Given the description of an element on the screen output the (x, y) to click on. 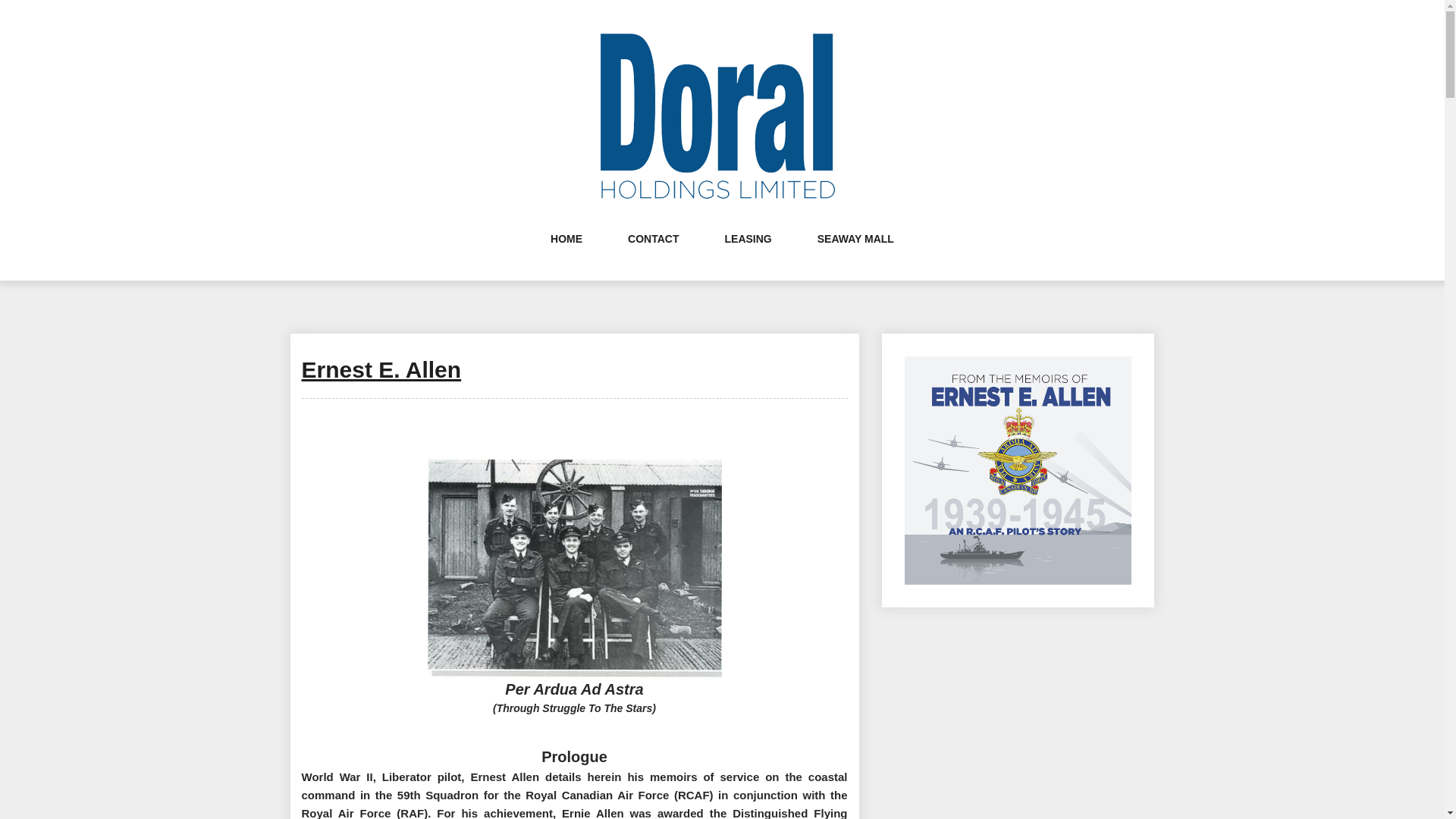
Ernest E. Allen (381, 369)
CONTACT (652, 253)
SEAWAY MALL (854, 253)
LEASING (748, 253)
